Given the description of an element on the screen output the (x, y) to click on. 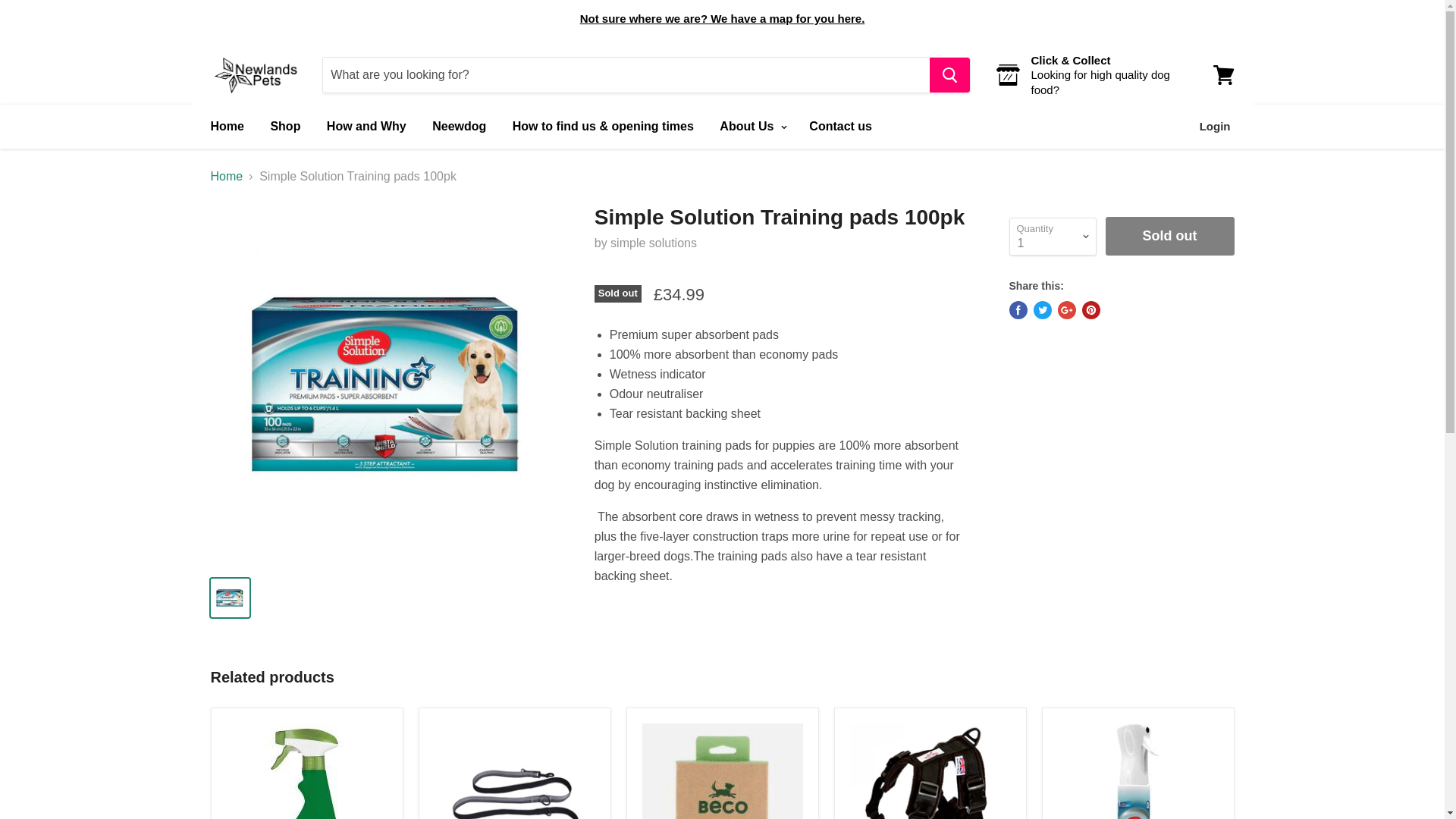
About Us (750, 126)
Sold out (1169, 236)
Not sure where we are? We have a map for you here. (721, 18)
Home (226, 126)
Contact us (840, 126)
Login (1215, 126)
How and Why (366, 126)
Home (227, 176)
Shop (285, 126)
Share on Facebook (1017, 310)
View cart (1223, 74)
Neewdog (458, 126)
Tweet on Twitter (1041, 310)
